Given the description of an element on the screen output the (x, y) to click on. 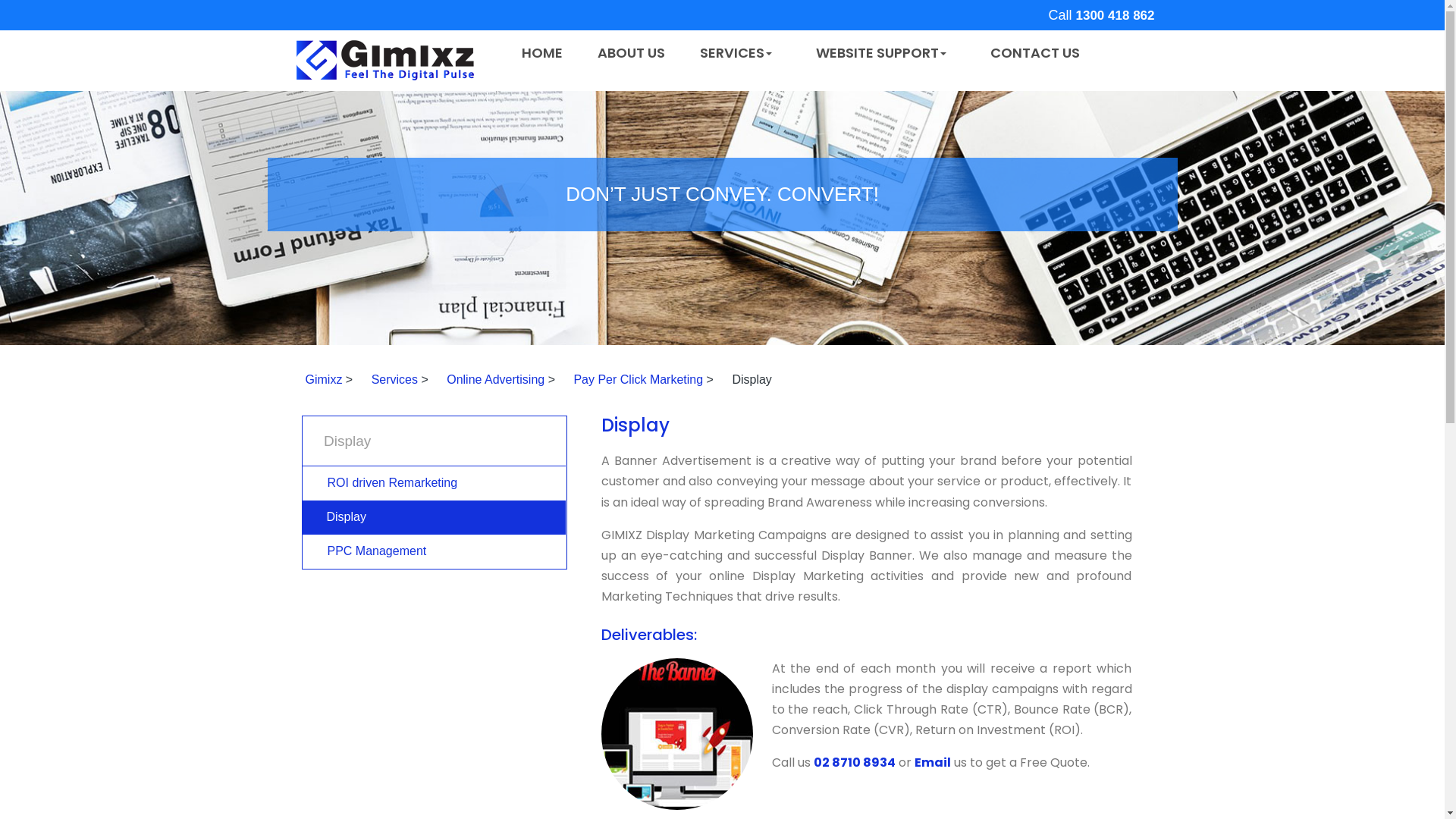
PPC Management Element type: text (432, 551)
1300 418 862 Element type: text (1114, 15)
ROI driven Remarketing Element type: text (432, 483)
WEBSITE SUPPORT Element type: text (885, 53)
Services Element type: text (390, 379)
Pay Per Click Marketing Element type: text (633, 379)
ABOUT US Element type: text (631, 52)
Online Advertising Element type: text (491, 379)
SERVICES Element type: text (740, 53)
HOME Element type: text (542, 52)
CONTACT US Element type: text (1028, 52)
Display Element type: text (433, 517)
Gimixz Element type: text (319, 379)
